Given the description of an element on the screen output the (x, y) to click on. 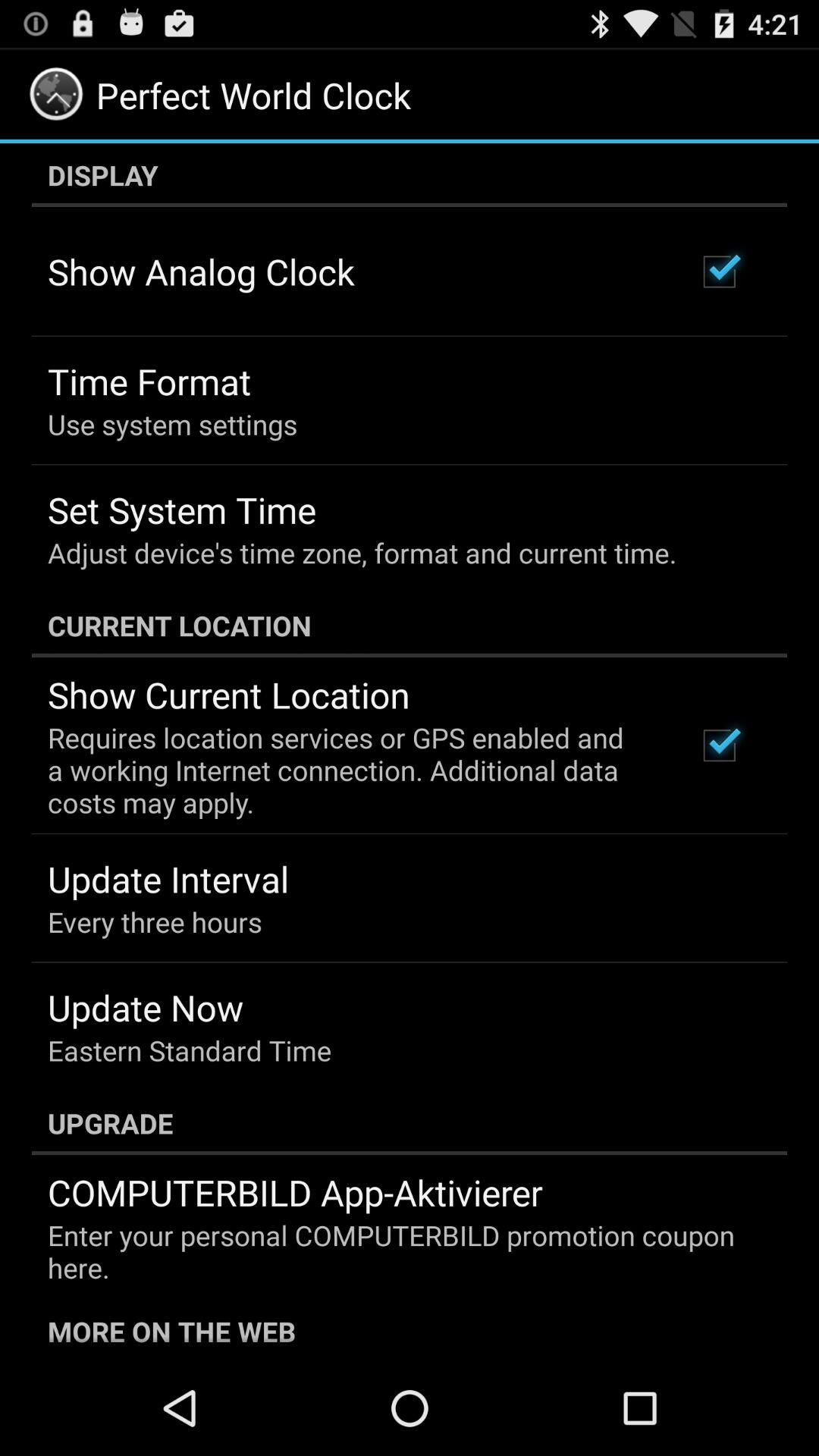
choose icon below requires location services app (167, 878)
